Given the description of an element on the screen output the (x, y) to click on. 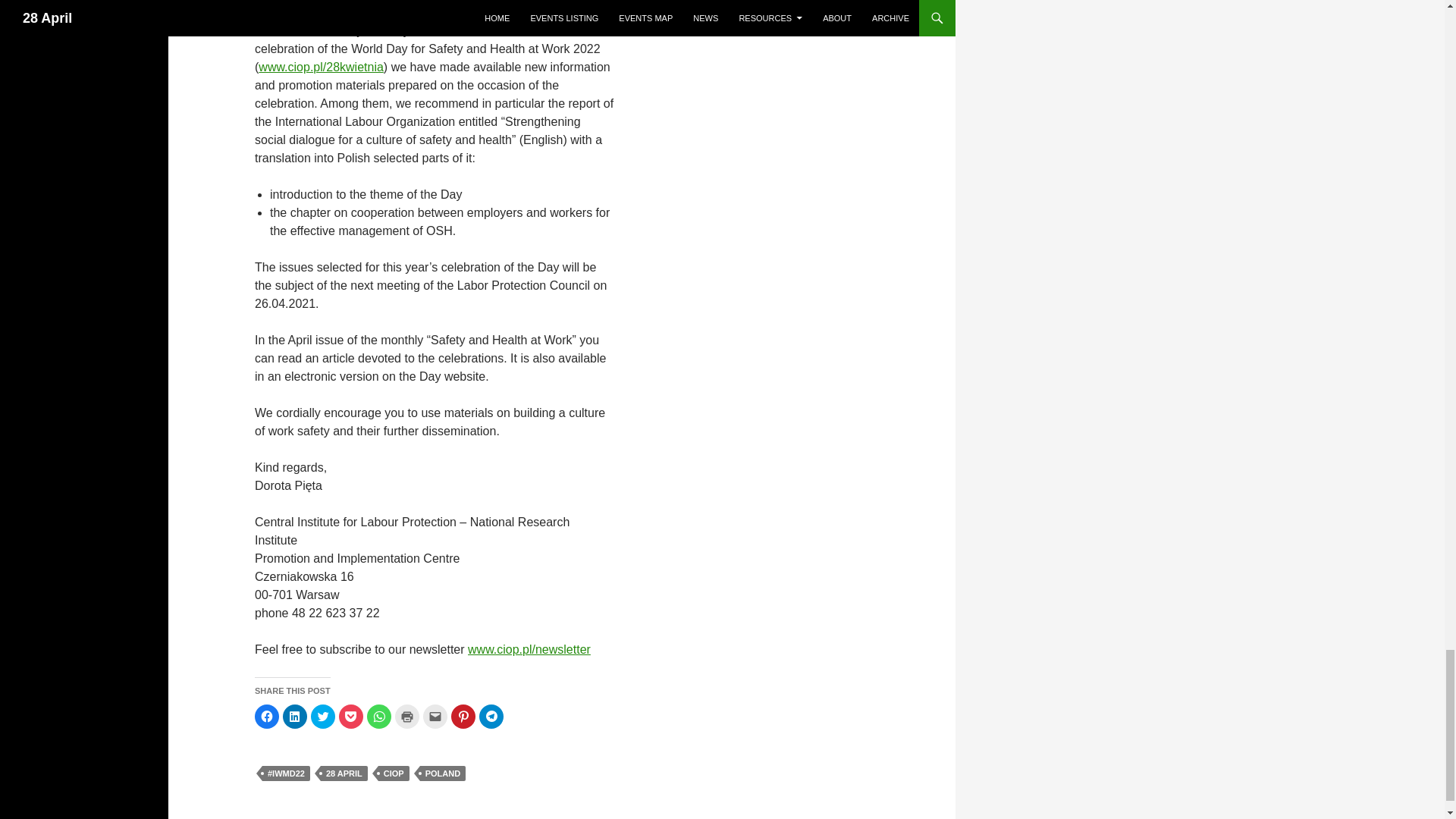
Click to share on Facebook (266, 716)
Click to share on Pocket (350, 716)
Click to share on Twitter (322, 716)
Click to share on WhatsApp (378, 716)
Click to email a link to a friend (434, 716)
Click to print (406, 716)
Click to share on LinkedIn (294, 716)
